Given the description of an element on the screen output the (x, y) to click on. 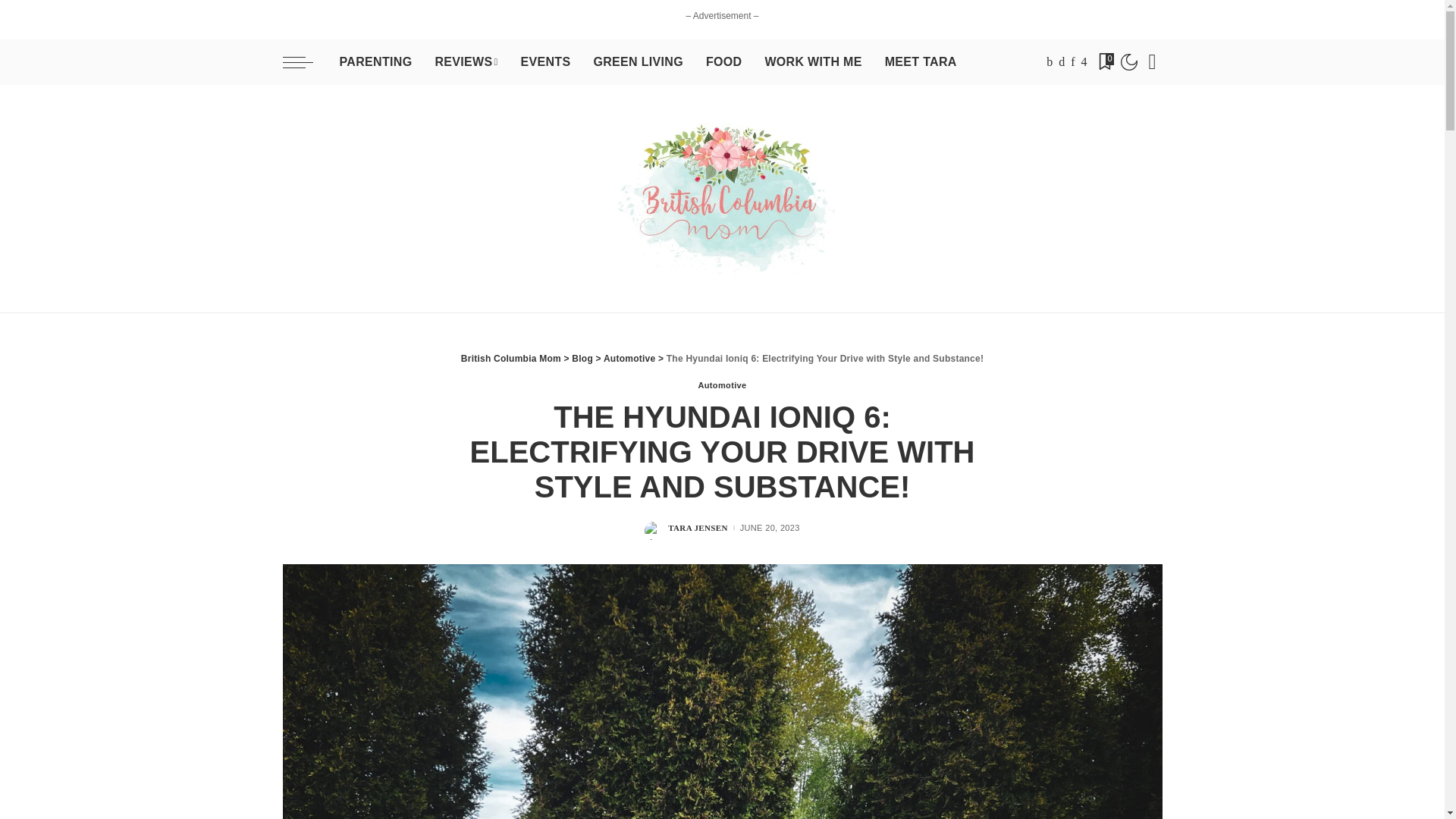
REVIEWS (465, 62)
FOOD (724, 62)
WORK WITH ME (812, 62)
British Columbia Mom (722, 198)
GREEN LIVING (637, 62)
PARENTING (375, 62)
MEET TARA (920, 62)
EVENTS (544, 62)
